Given the description of an element on the screen output the (x, y) to click on. 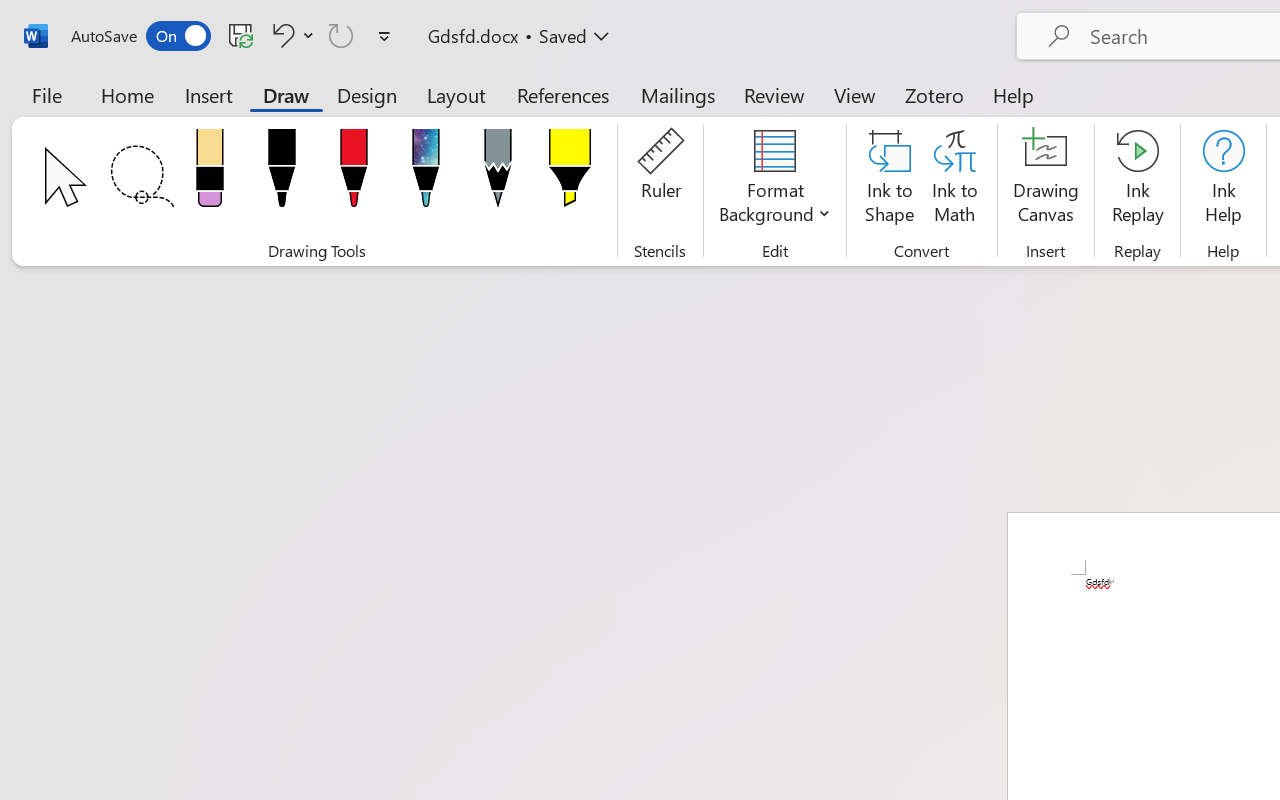
Pen: Galaxy, 1 mm (426, 173)
Ruler (660, 179)
Undo Apply Quick Style (280, 35)
Pencil: Gray, 1 mm (497, 173)
